Given the description of an element on the screen output the (x, y) to click on. 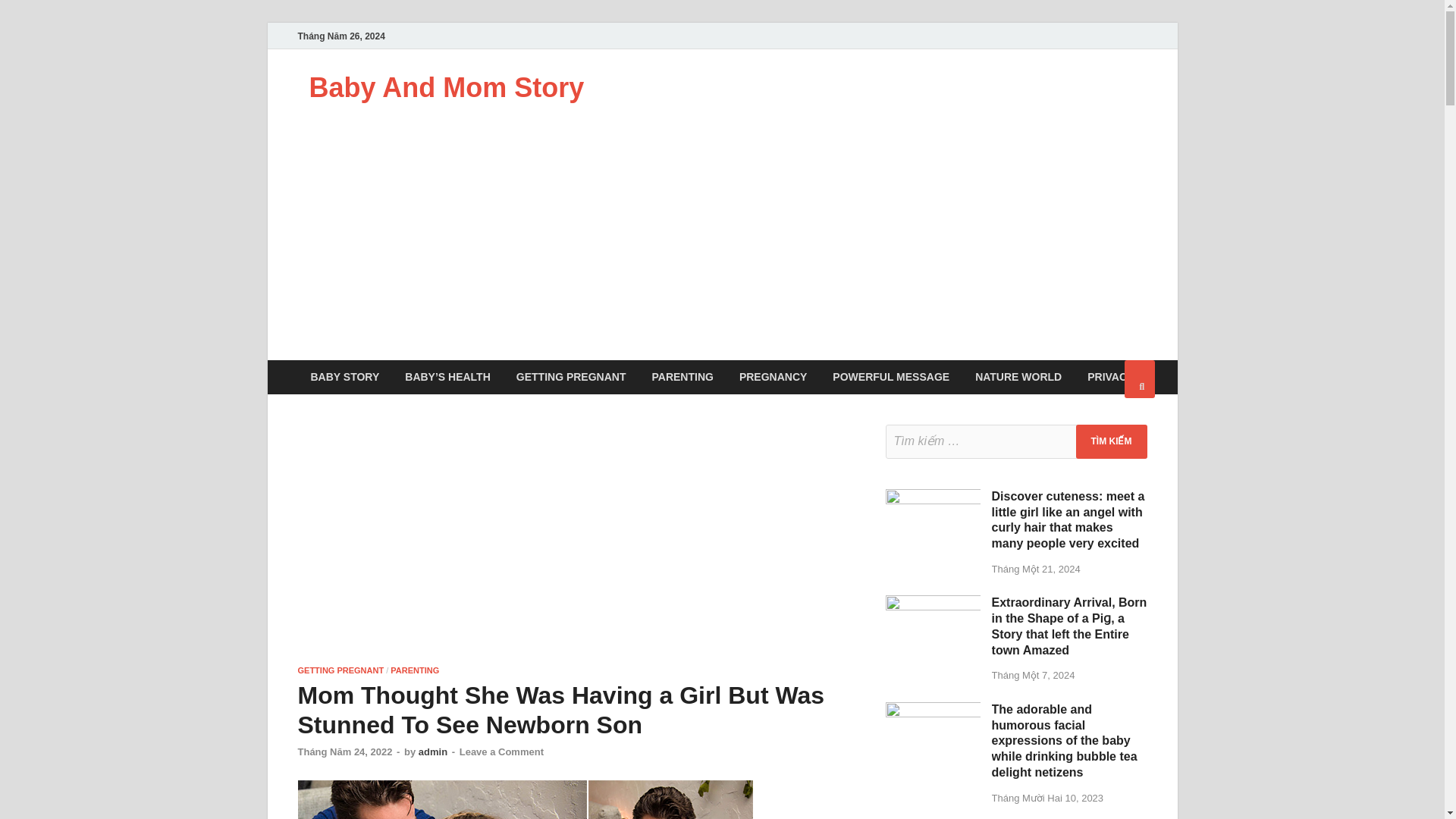
Baby And Mom Story (446, 87)
PARENTING (682, 376)
POWERFUL MESSAGE (890, 376)
GETTING PREGNANT (571, 376)
GETTING PREGNANT (340, 669)
Leave a Comment (501, 751)
PARENTING (414, 669)
NATURE WORLD (1018, 376)
BABY STORY (344, 376)
admin (432, 751)
PREGNANCY (772, 376)
PRIVACY (1110, 376)
